Given the description of an element on the screen output the (x, y) to click on. 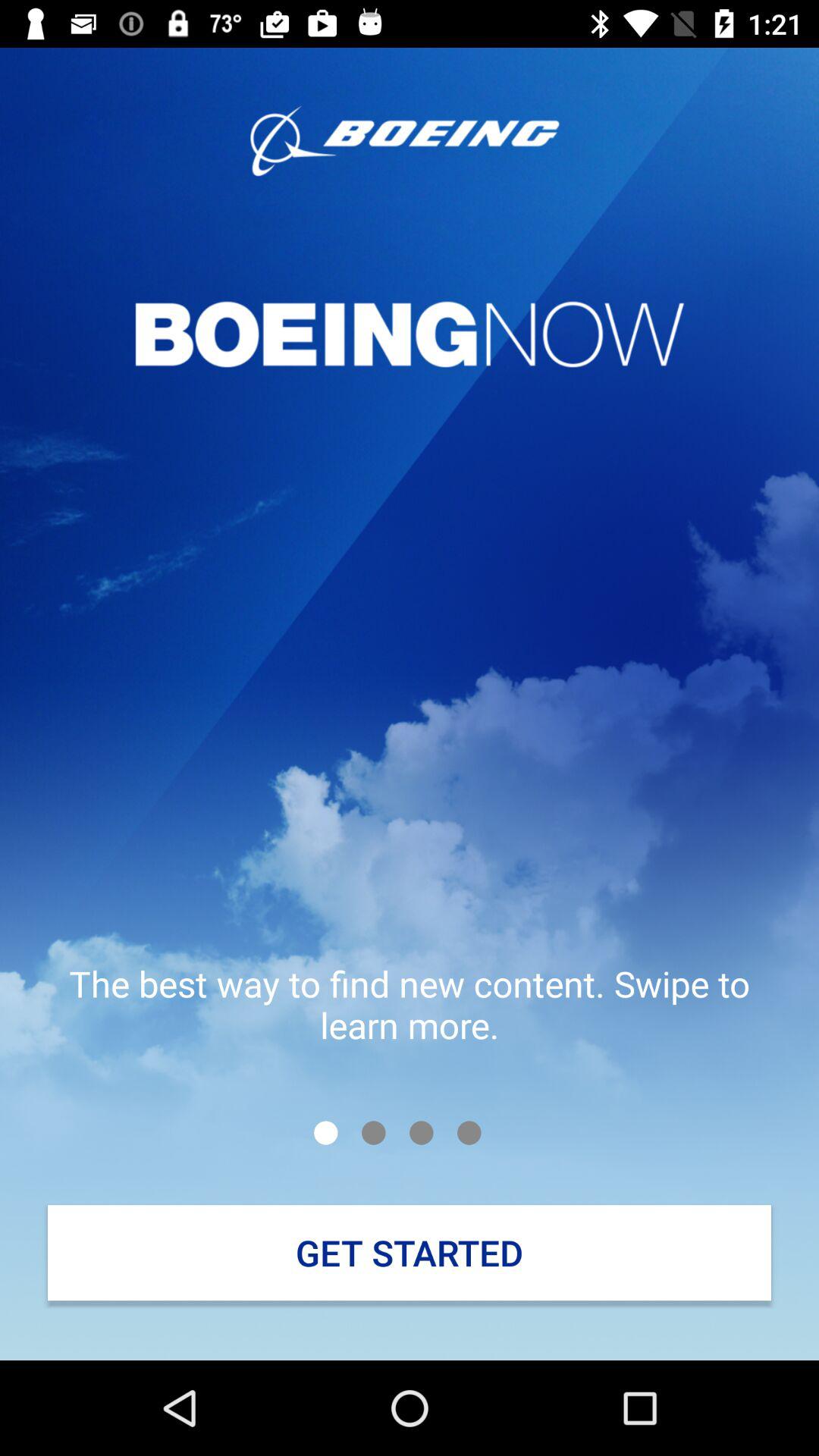
flip until the get started icon (409, 1252)
